Given the description of an element on the screen output the (x, y) to click on. 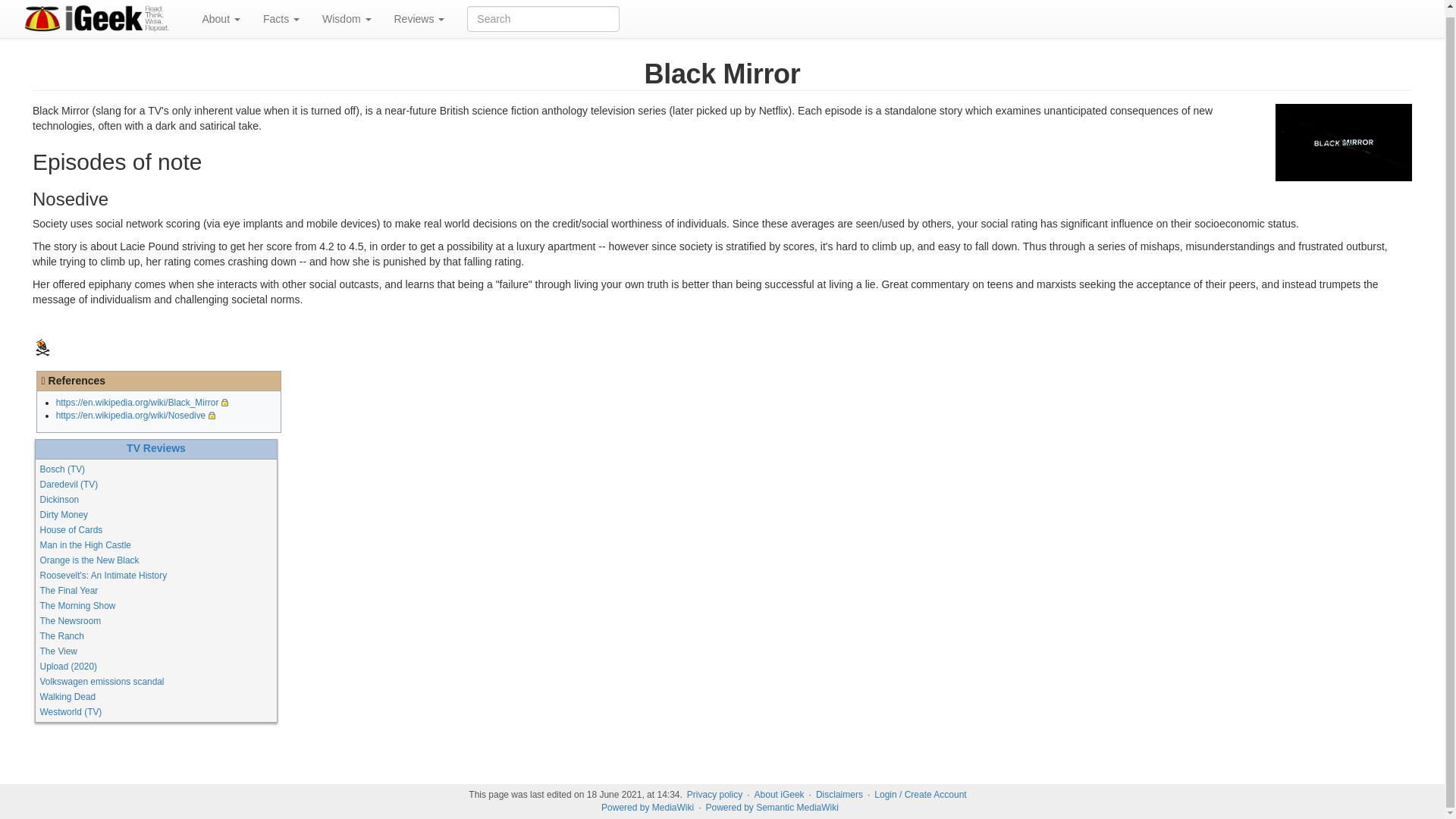
Wisdom (346, 15)
Orange is the New Black (89, 560)
Man in the High Castle (85, 544)
Main Page (42, 347)
The Final Year (69, 590)
House of Cards (71, 529)
About (220, 15)
Dirty Money (63, 514)
Reviews (418, 15)
Dickinson (60, 499)
The Morning Show (78, 605)
The Ranch (62, 635)
Facts (281, 15)
TV Reviews (156, 448)
The View (58, 651)
